Given the description of an element on the screen output the (x, y) to click on. 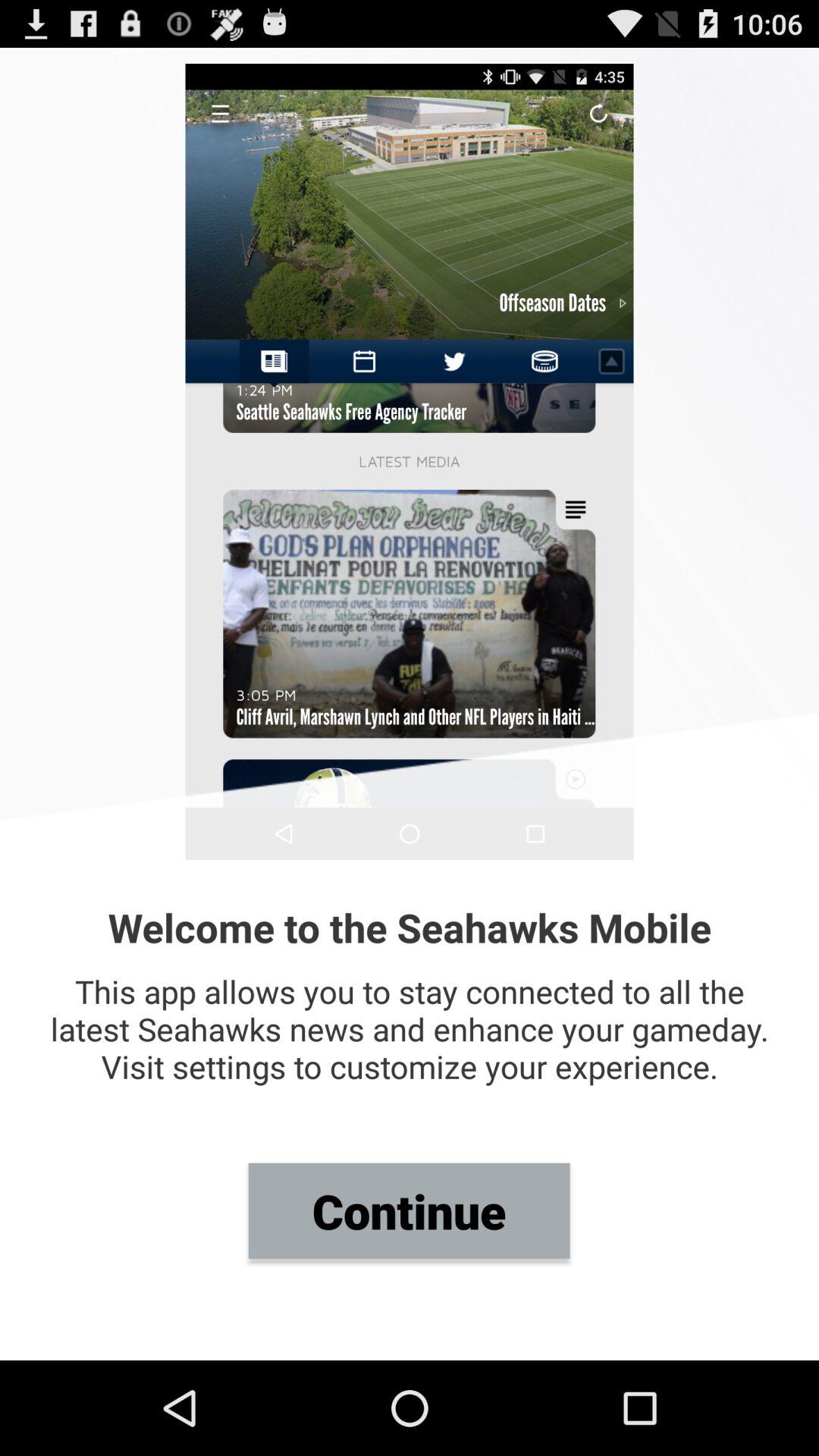
jump to continue icon (408, 1210)
